Given the description of an element on the screen output the (x, y) to click on. 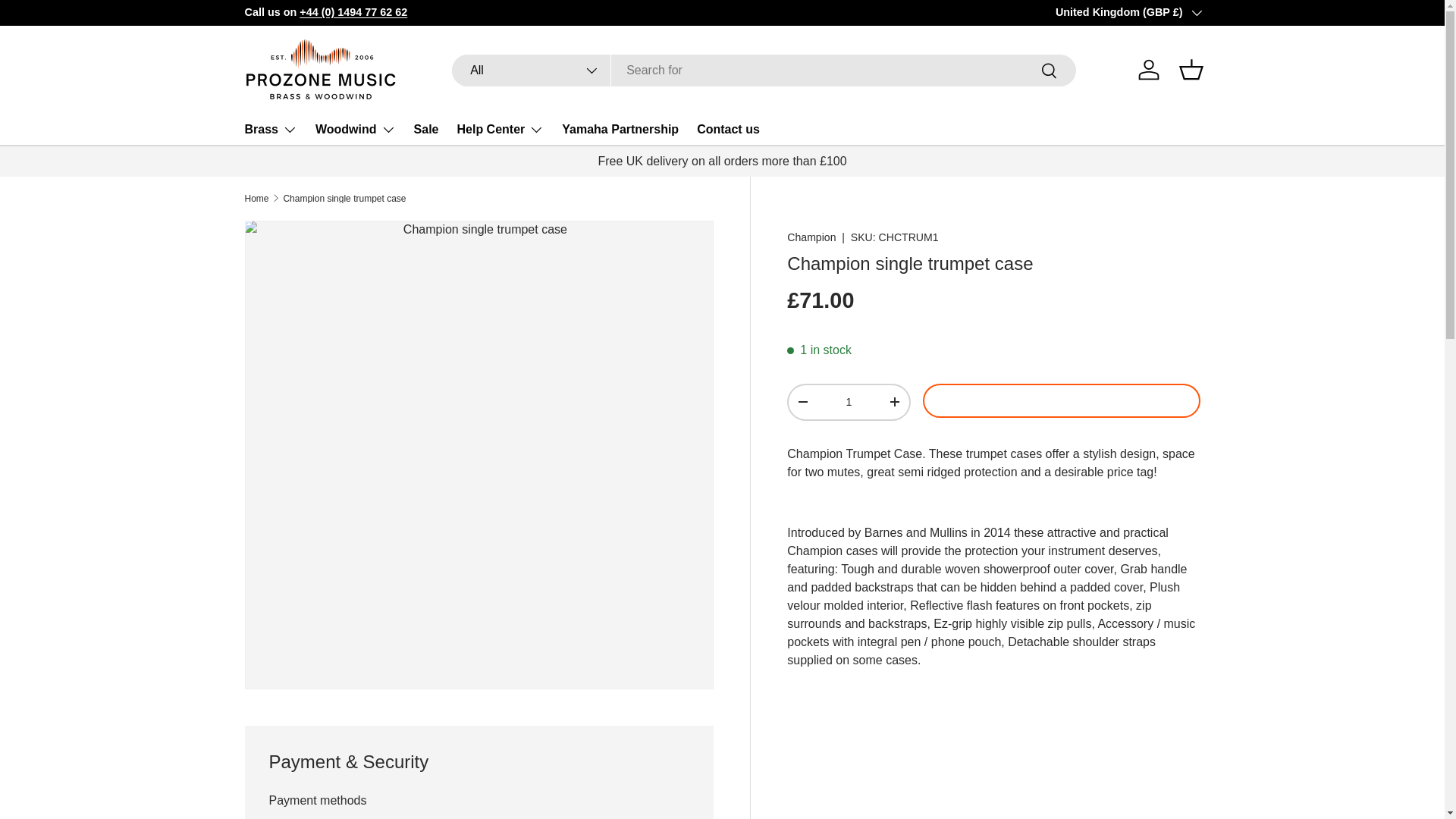
Basket (1190, 69)
1 (847, 401)
Log in (1147, 69)
Search (1049, 71)
Brass (270, 129)
All (531, 70)
Skip to content (69, 21)
